Given the description of an element on the screen output the (x, y) to click on. 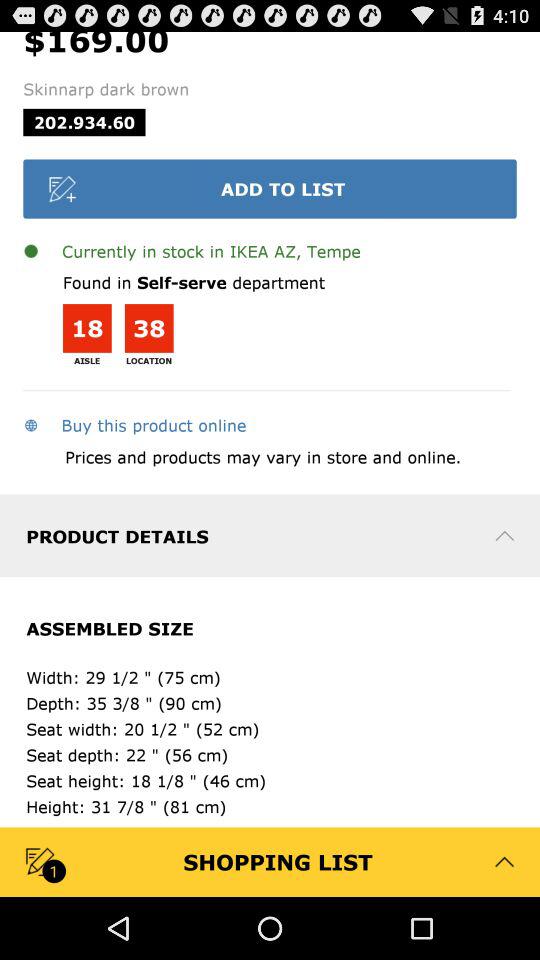
click on the drop down symbol beside product details (503, 536)
click on blue text (134, 424)
select text add to list (269, 188)
